Given the description of an element on the screen output the (x, y) to click on. 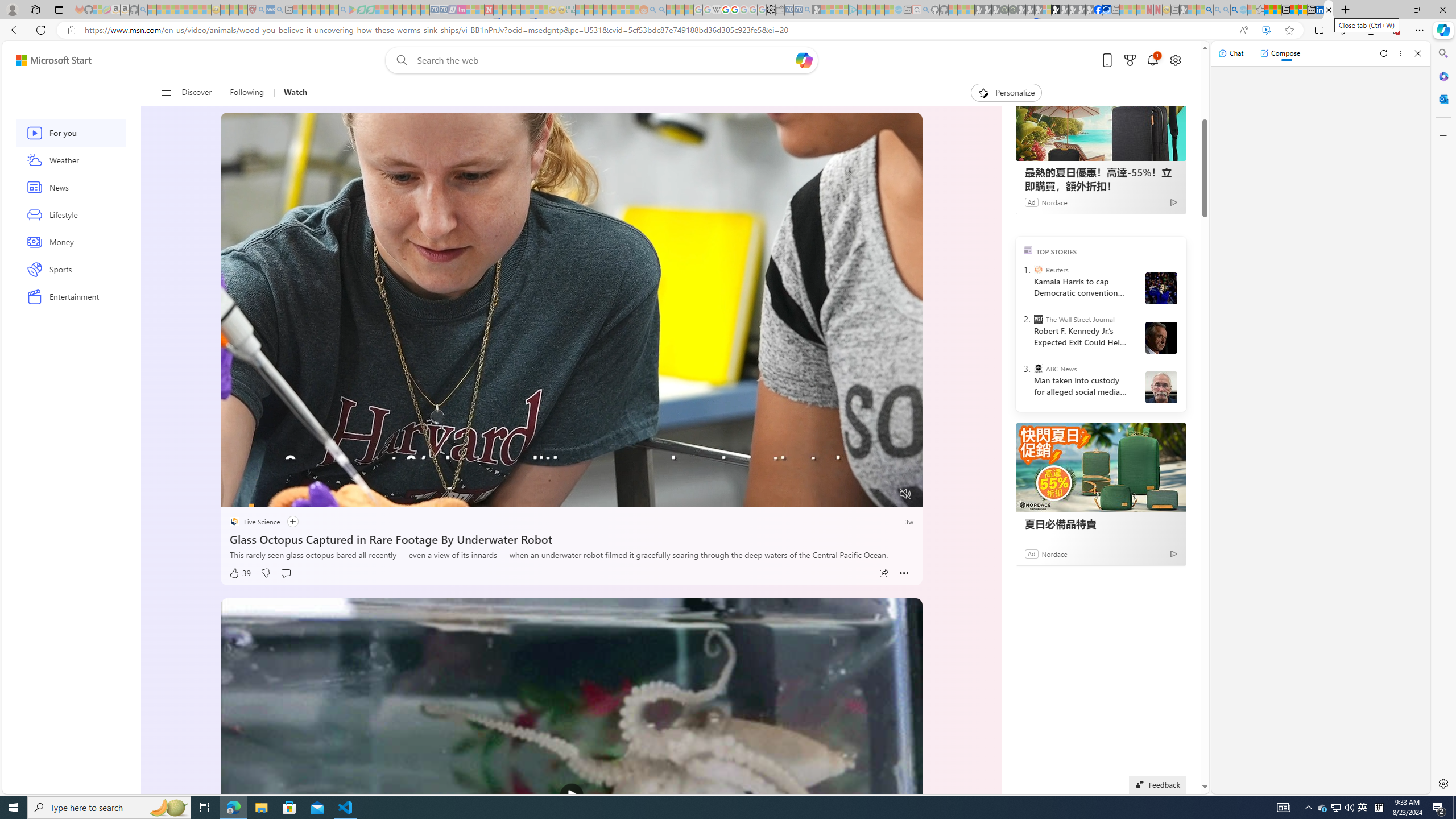
ABC News (1037, 368)
Privacy Help Center - Policies Help (725, 9)
Unmute (905, 493)
